Given the description of an element on the screen output the (x, y) to click on. 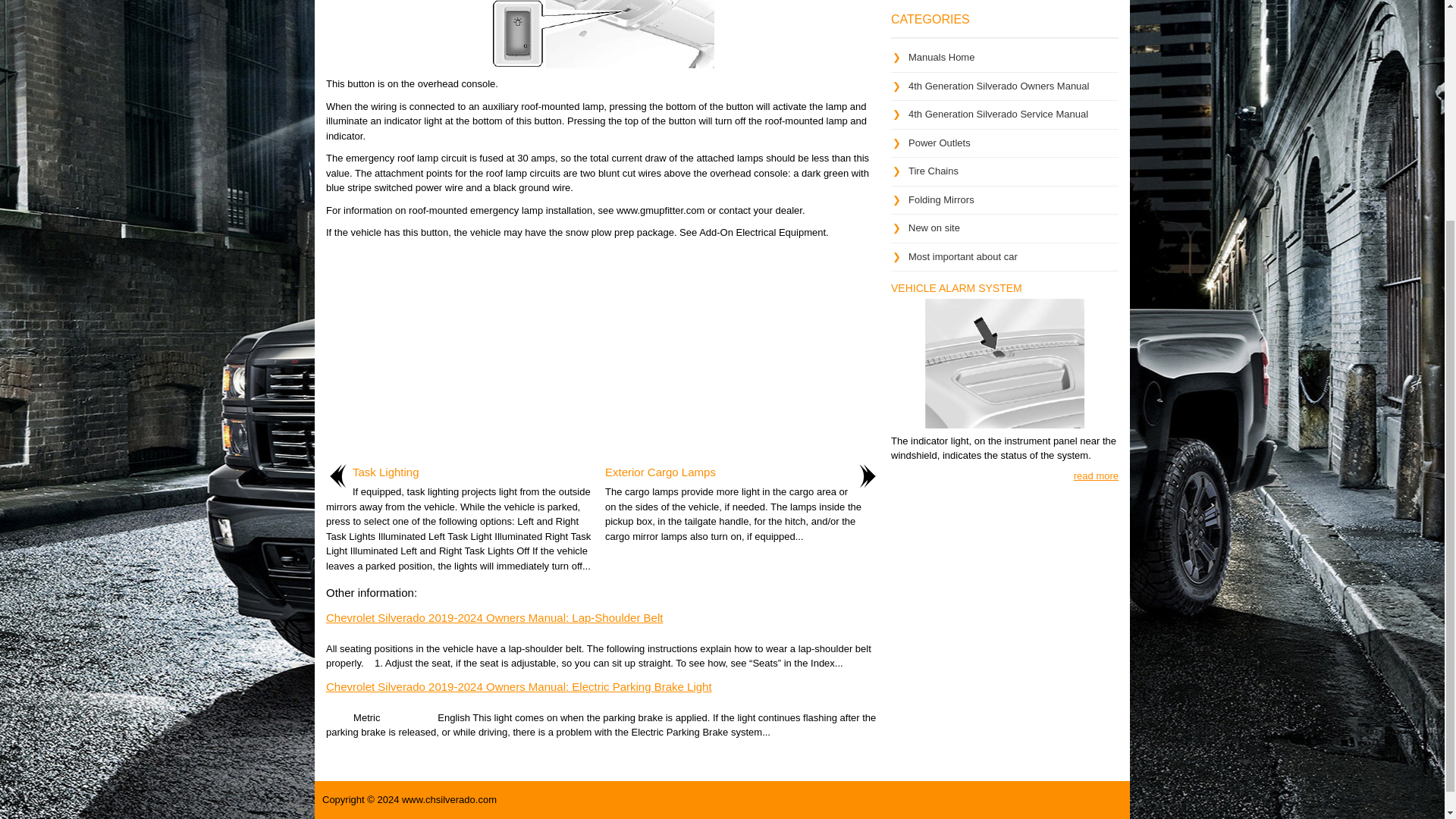
Advertisement (1004, 2)
Tire Chains (933, 170)
VEHICLE ALARM SYSTEM (956, 287)
Most important about car (962, 255)
Folding Mirrors (941, 199)
Power Outlets (939, 142)
Tire Chains (933, 170)
Folding Mirrors (941, 199)
Exterior Cargo Lamps (660, 472)
Task Lighting (385, 472)
Manuals Home (941, 57)
Chevrolet Silverado Owners Manual (1004, 89)
Advertisement (602, 353)
4th Generation Silverado Owners Manual (998, 85)
